Given the description of an element on the screen output the (x, y) to click on. 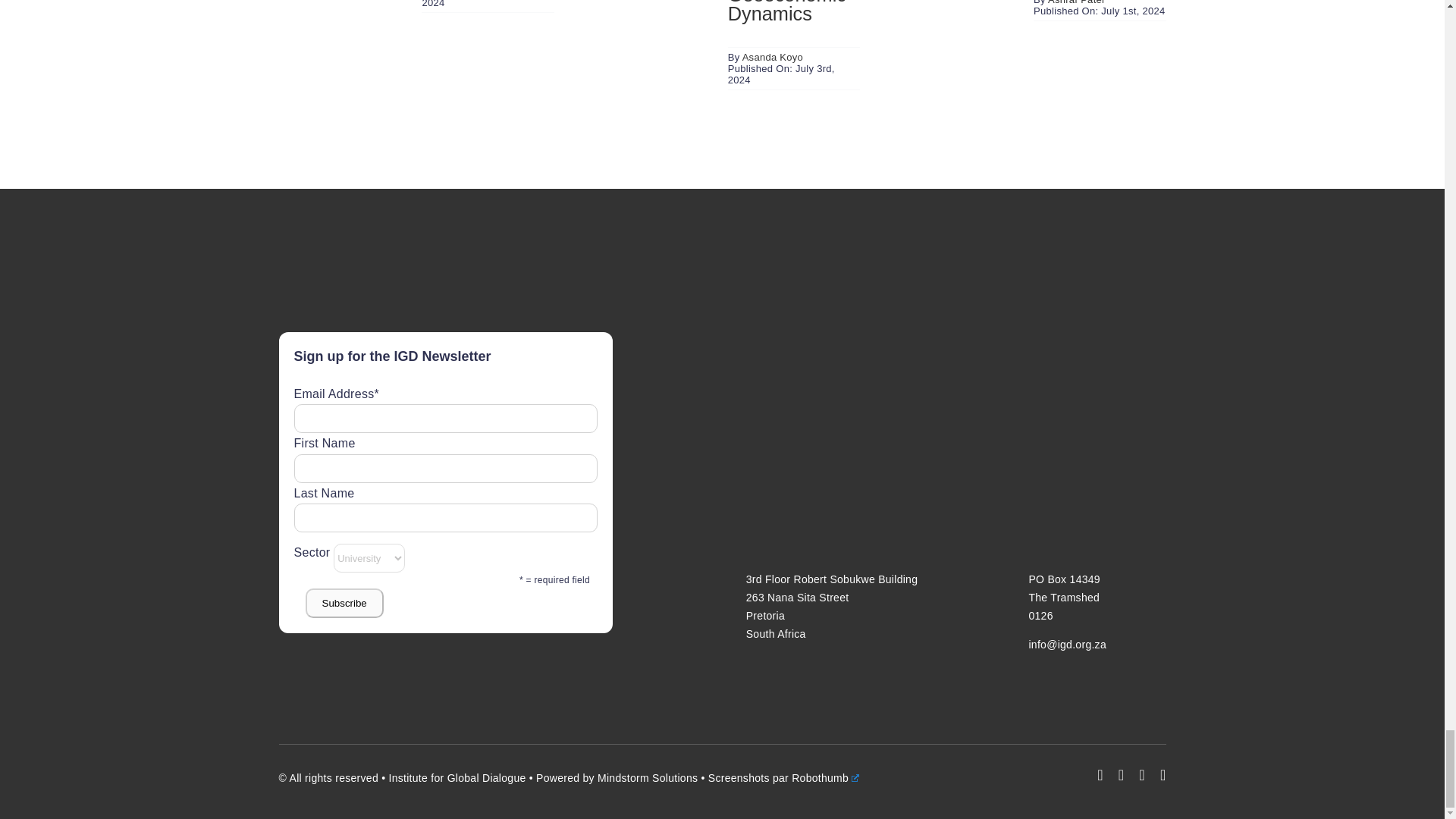
Subscribe (343, 603)
